Given the description of an element on the screen output the (x, y) to click on. 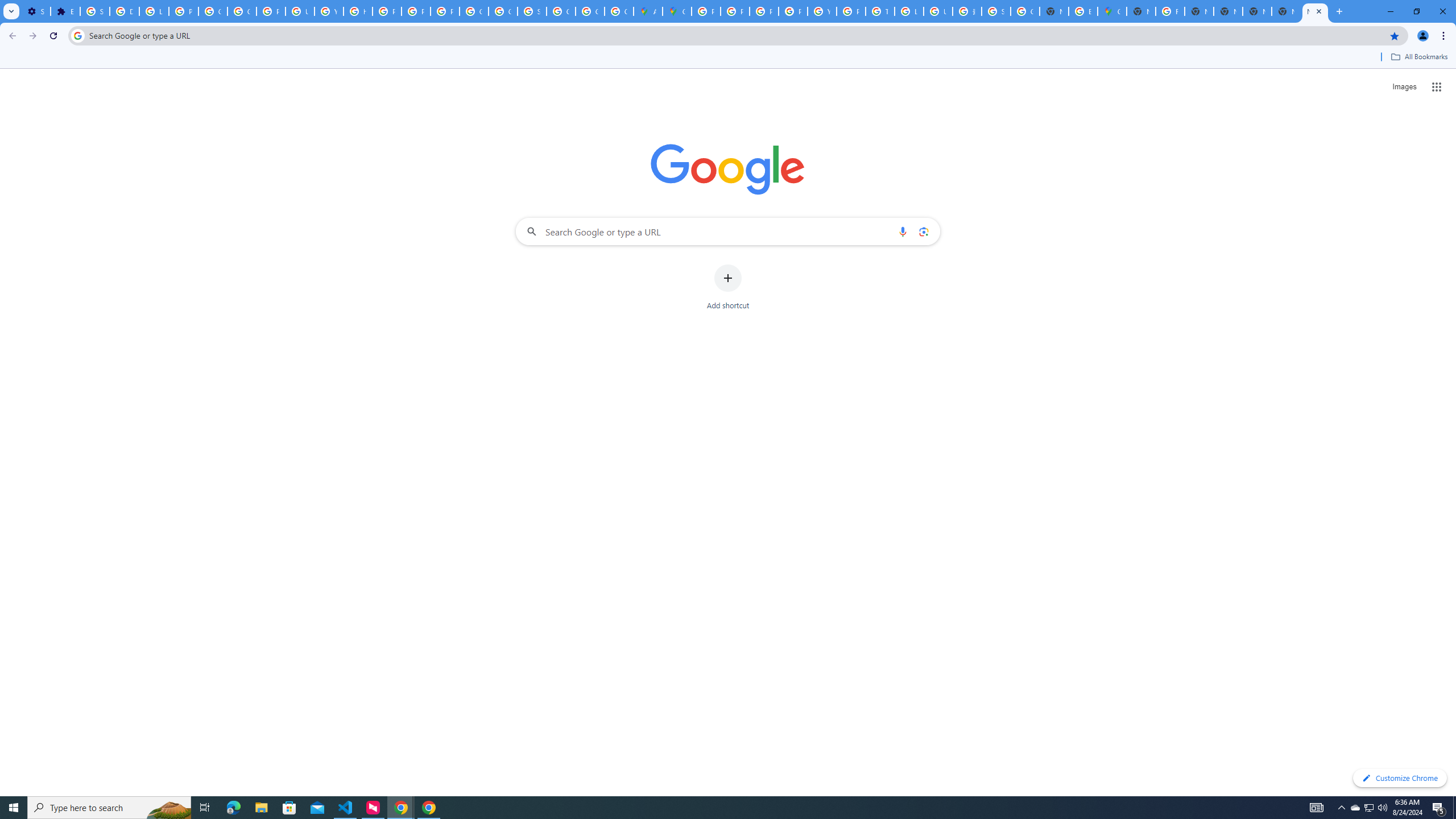
Extensions (65, 11)
Delete photos & videos - Computer - Google Photos Help (124, 11)
Add shortcut (727, 287)
Privacy Help Center - Policies Help (386, 11)
Search icon (77, 35)
Google Account Help (212, 11)
New Tab (1140, 11)
Search Google or type a URL (727, 230)
